Given the description of an element on the screen output the (x, y) to click on. 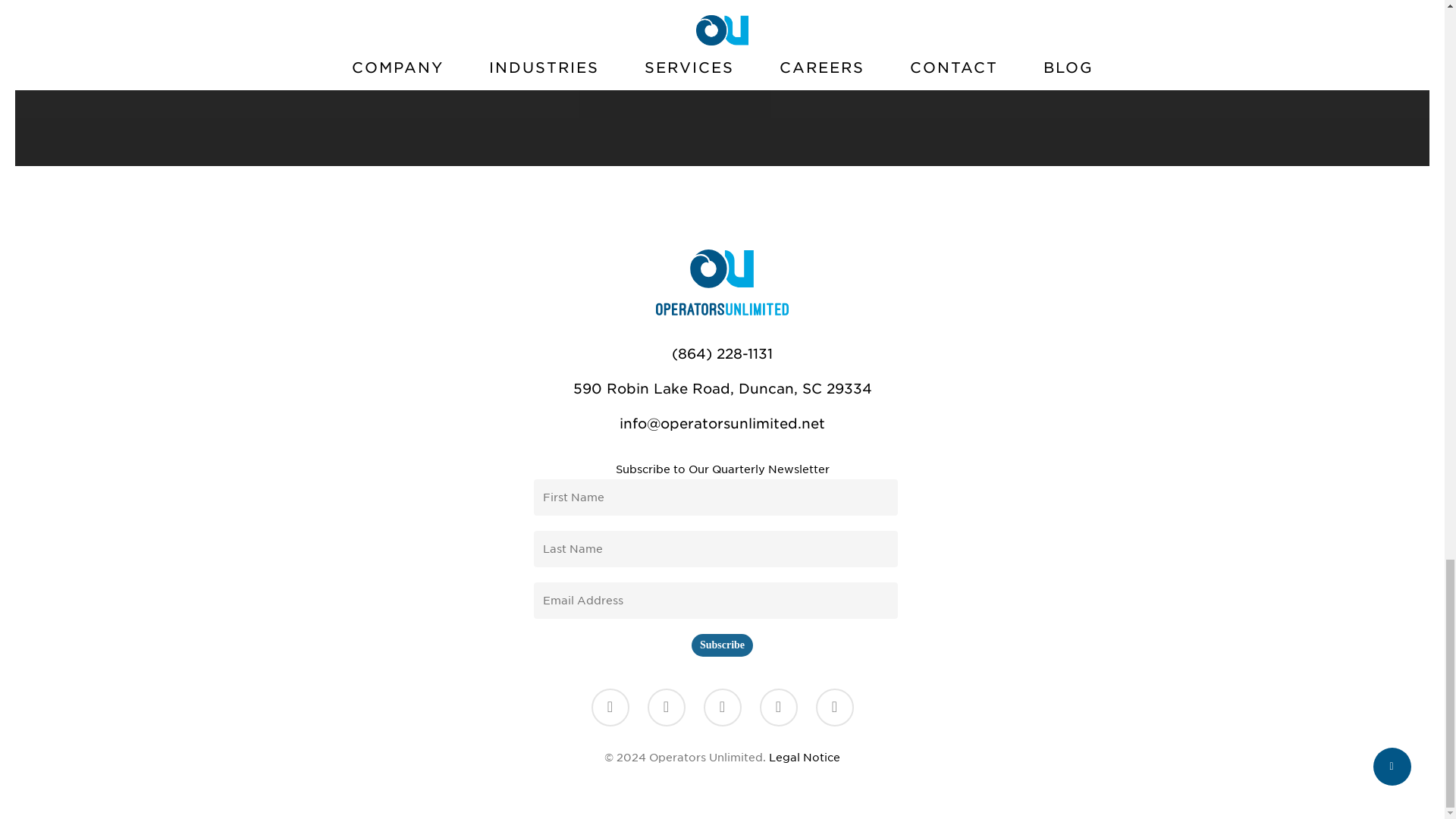
Home (722, 311)
Subscribe (721, 644)
